Given the description of an element on the screen output the (x, y) to click on. 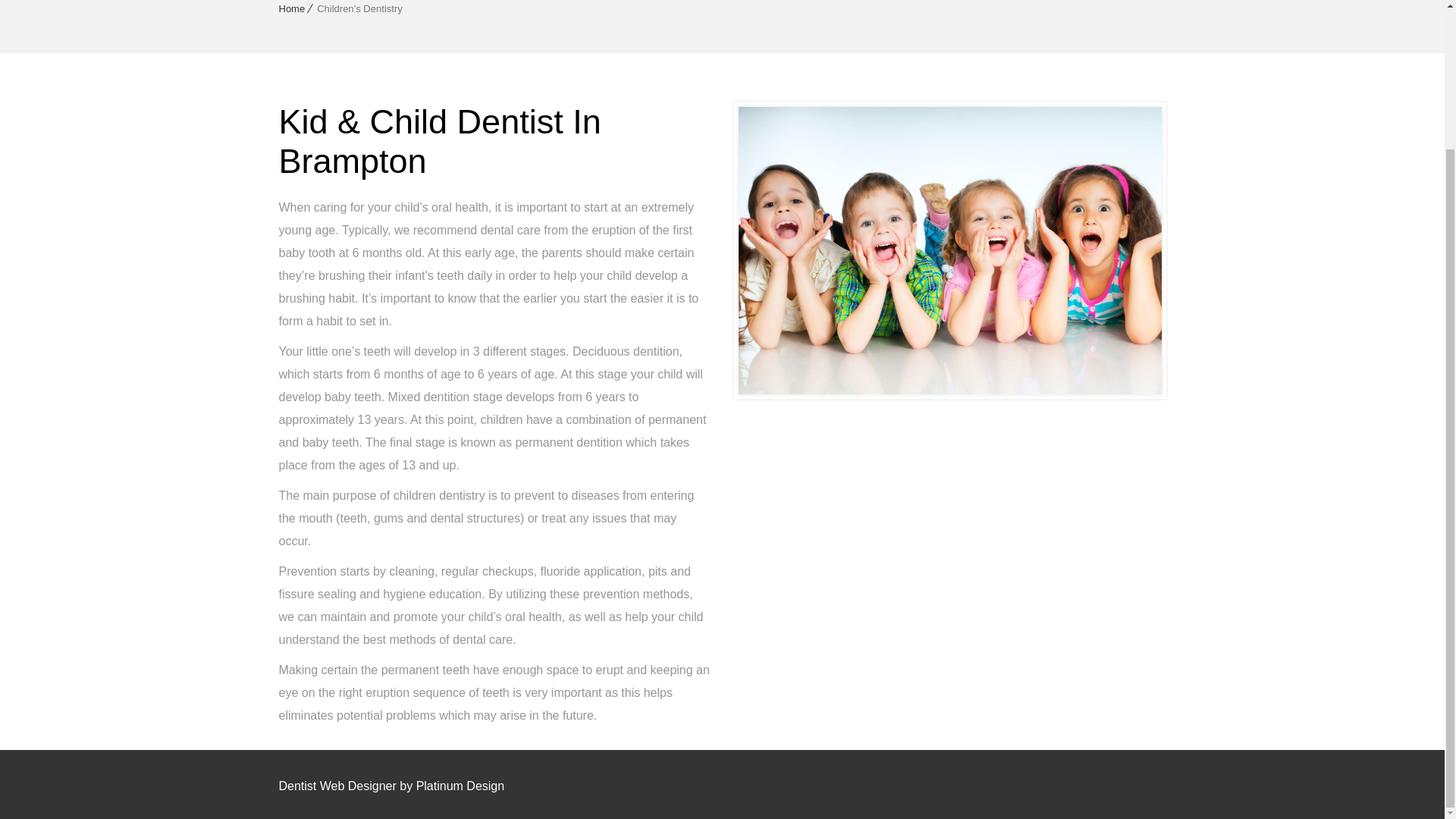
Dentist Web Designer (337, 785)
Home (292, 8)
Platinum Design (460, 785)
